Given the description of an element on the screen output the (x, y) to click on. 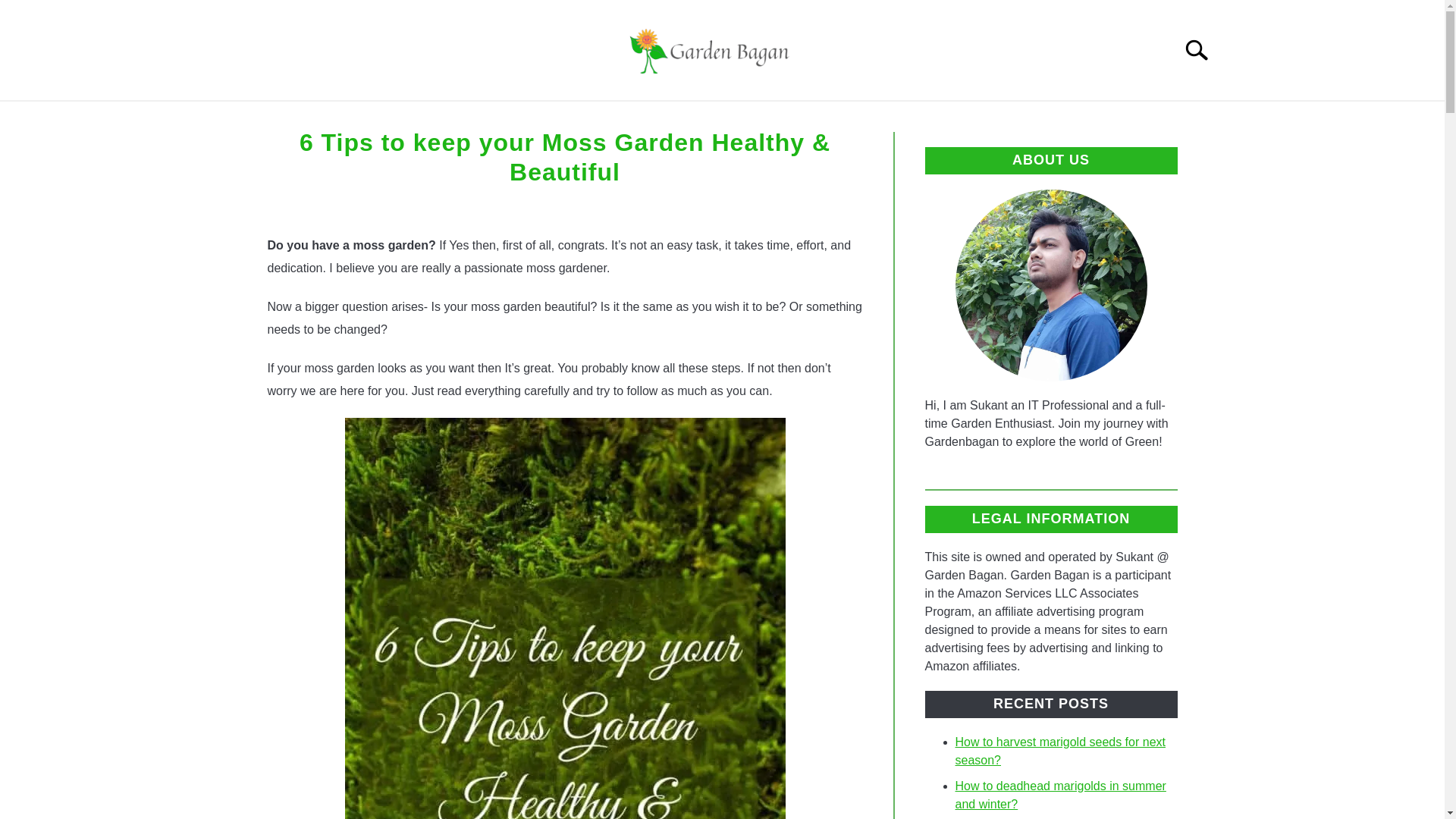
VEGETABLES (690, 118)
How to harvest marigold seeds for next season? (1060, 750)
Search (1203, 49)
FLOWERS (501, 118)
HERBS (846, 118)
FAQ (779, 118)
FRUITS (590, 118)
FUNGICIDE (938, 118)
How to deadhead marigolds in summer and winter? (1060, 794)
